Given the description of an element on the screen output the (x, y) to click on. 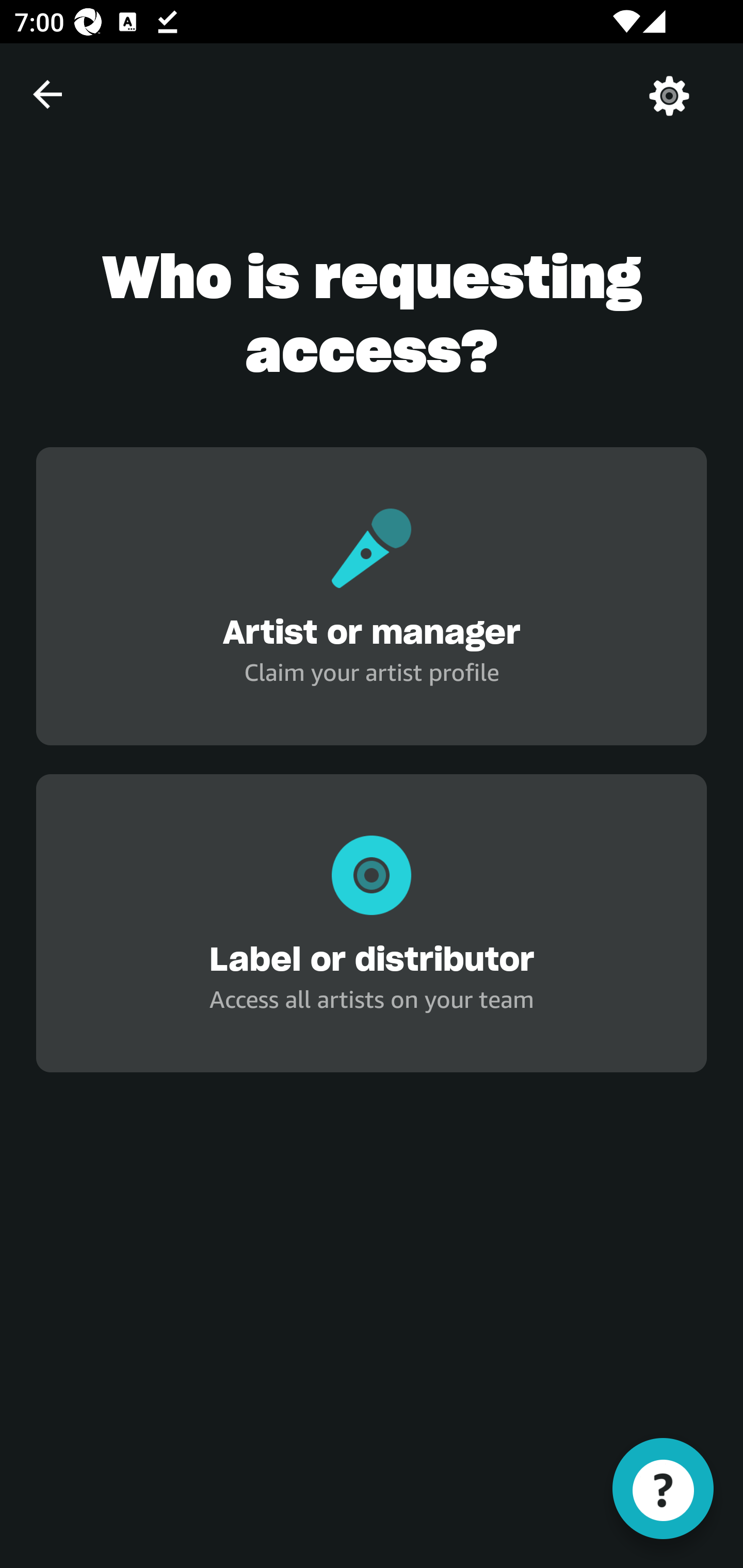
ArtistSelect, back (47, 93)
